Given the description of an element on the screen output the (x, y) to click on. 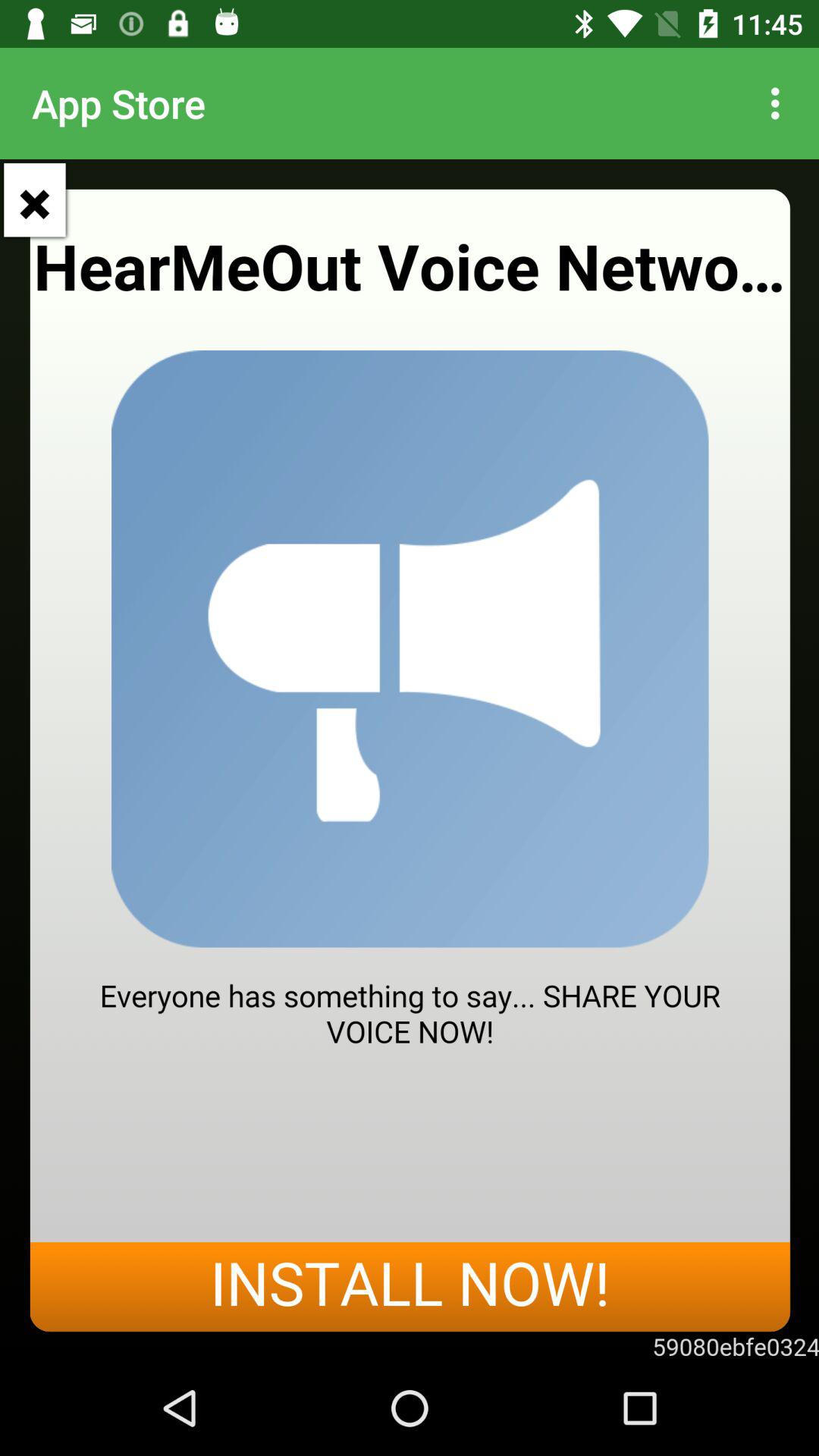
speak (409, 759)
